Given the description of an element on the screen output the (x, y) to click on. 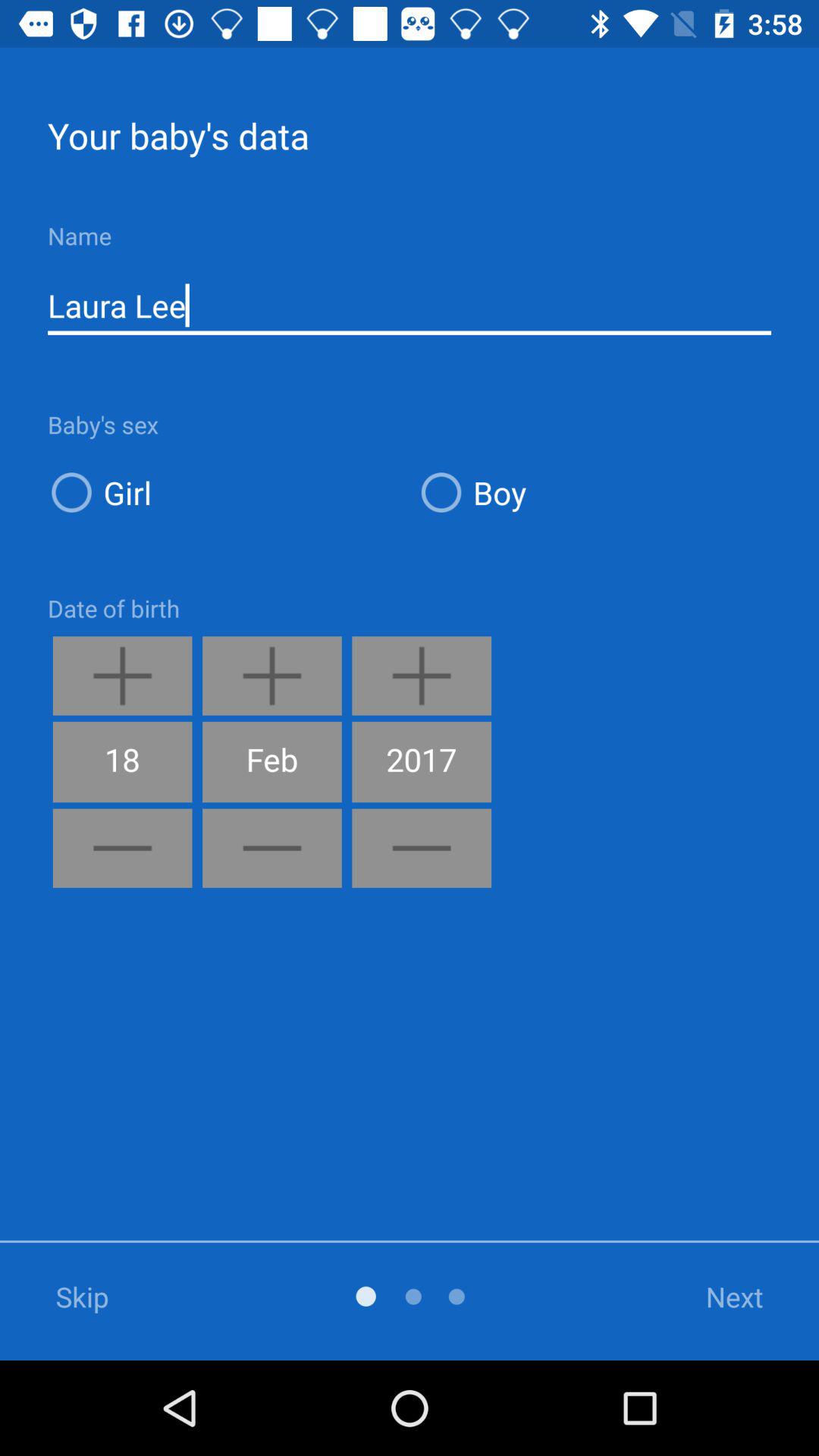
turn on the boy icon (594, 492)
